Given the description of an element on the screen output the (x, y) to click on. 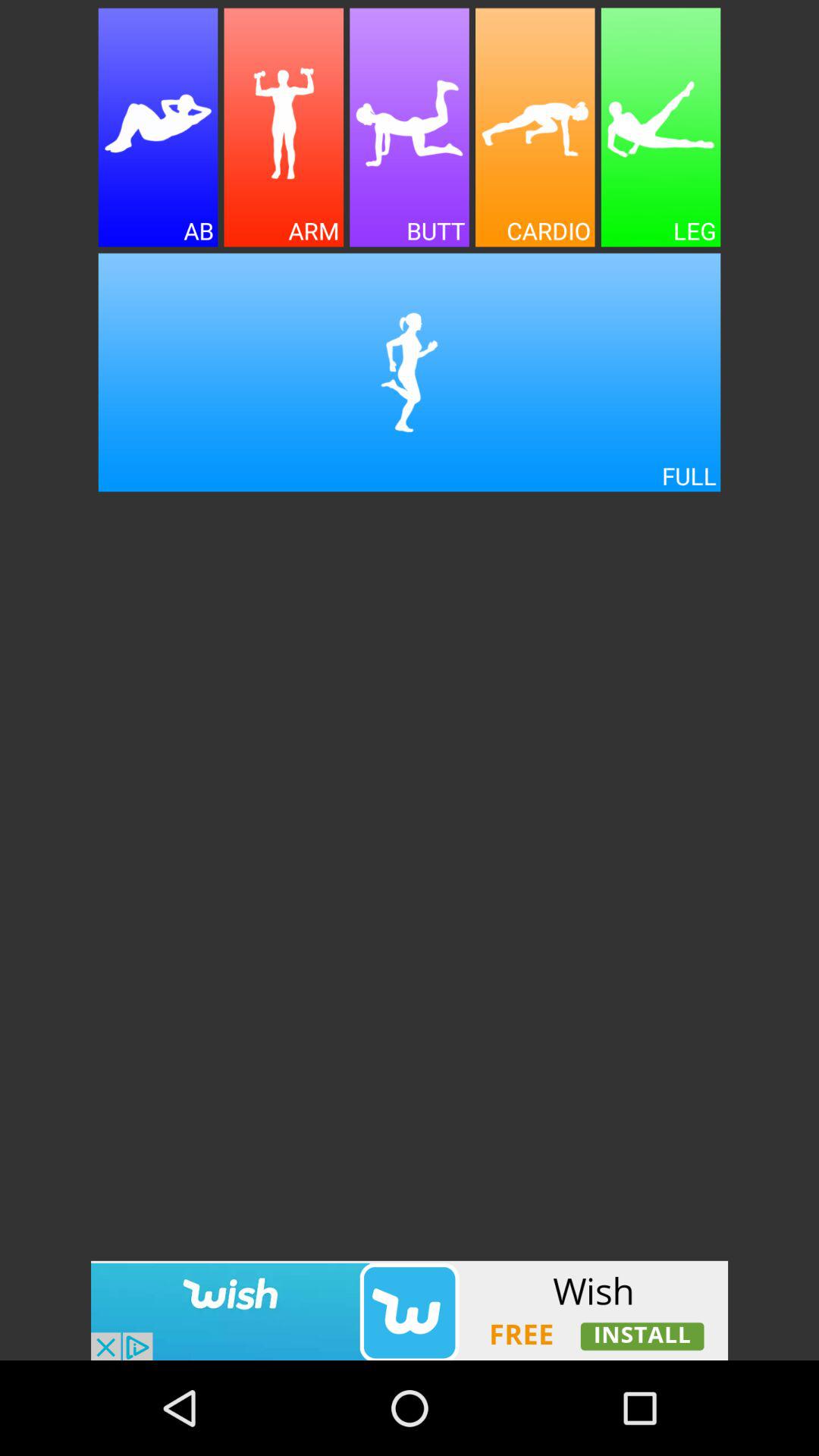
alerta para o icone cardio (534, 126)
